Given the description of an element on the screen output the (x, y) to click on. 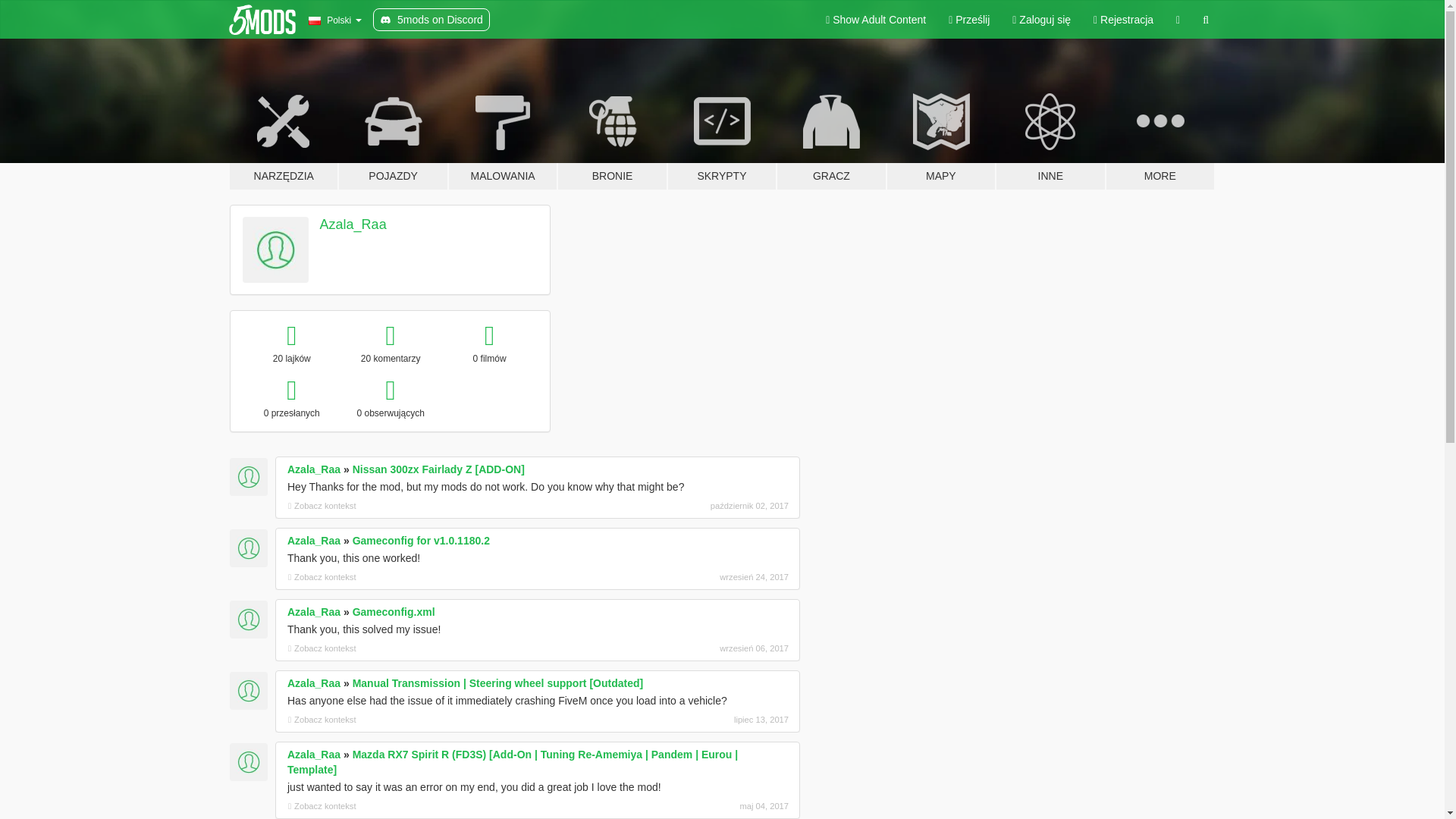
  Polski (334, 19)
5mods on Discord (430, 19)
Show Adult Content (875, 19)
Rejestracja (1122, 19)
Light mode (875, 19)
